Given the description of an element on the screen output the (x, y) to click on. 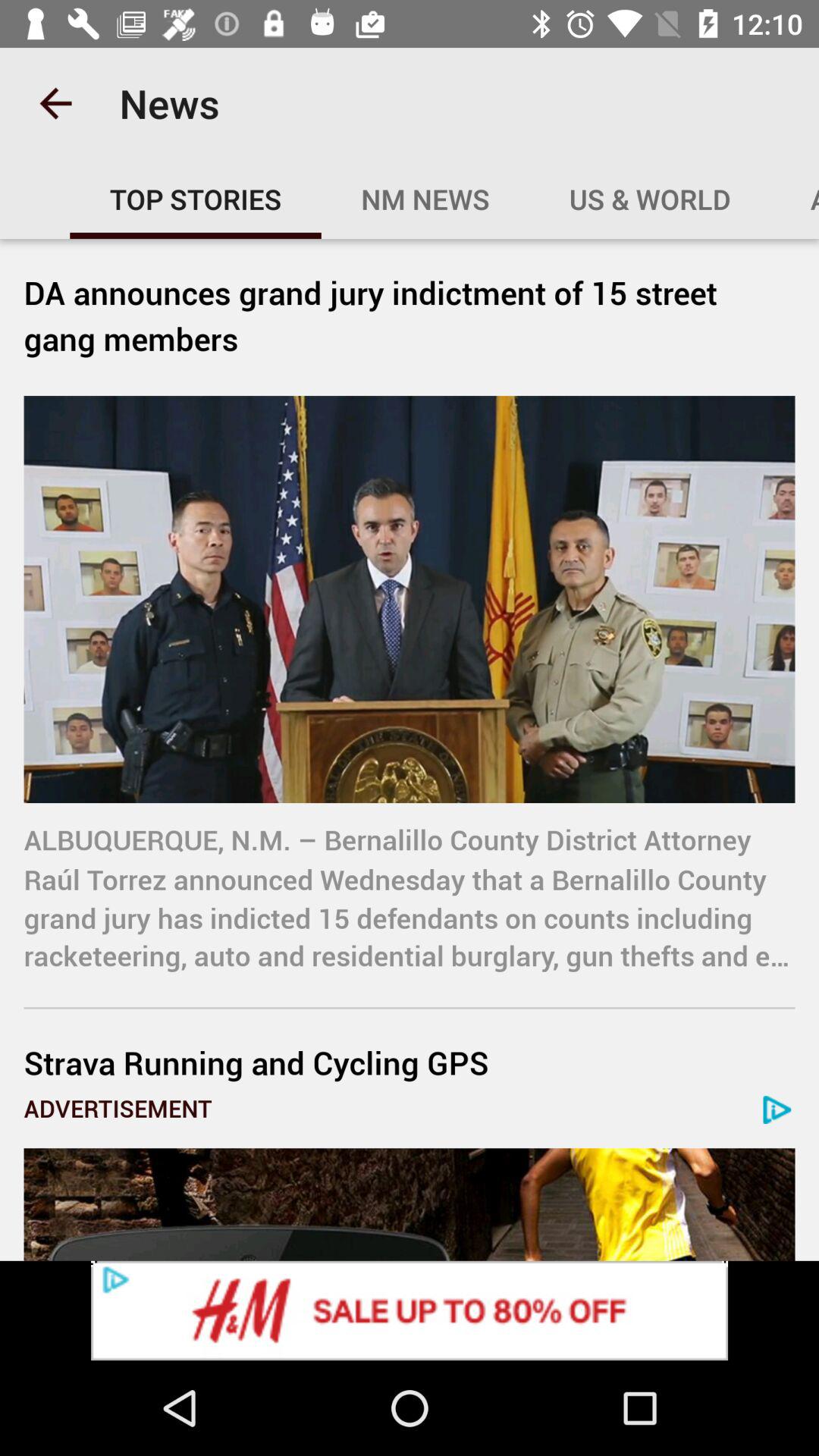
go to the page related to the advertisement (409, 1204)
